Given the description of an element on the screen output the (x, y) to click on. 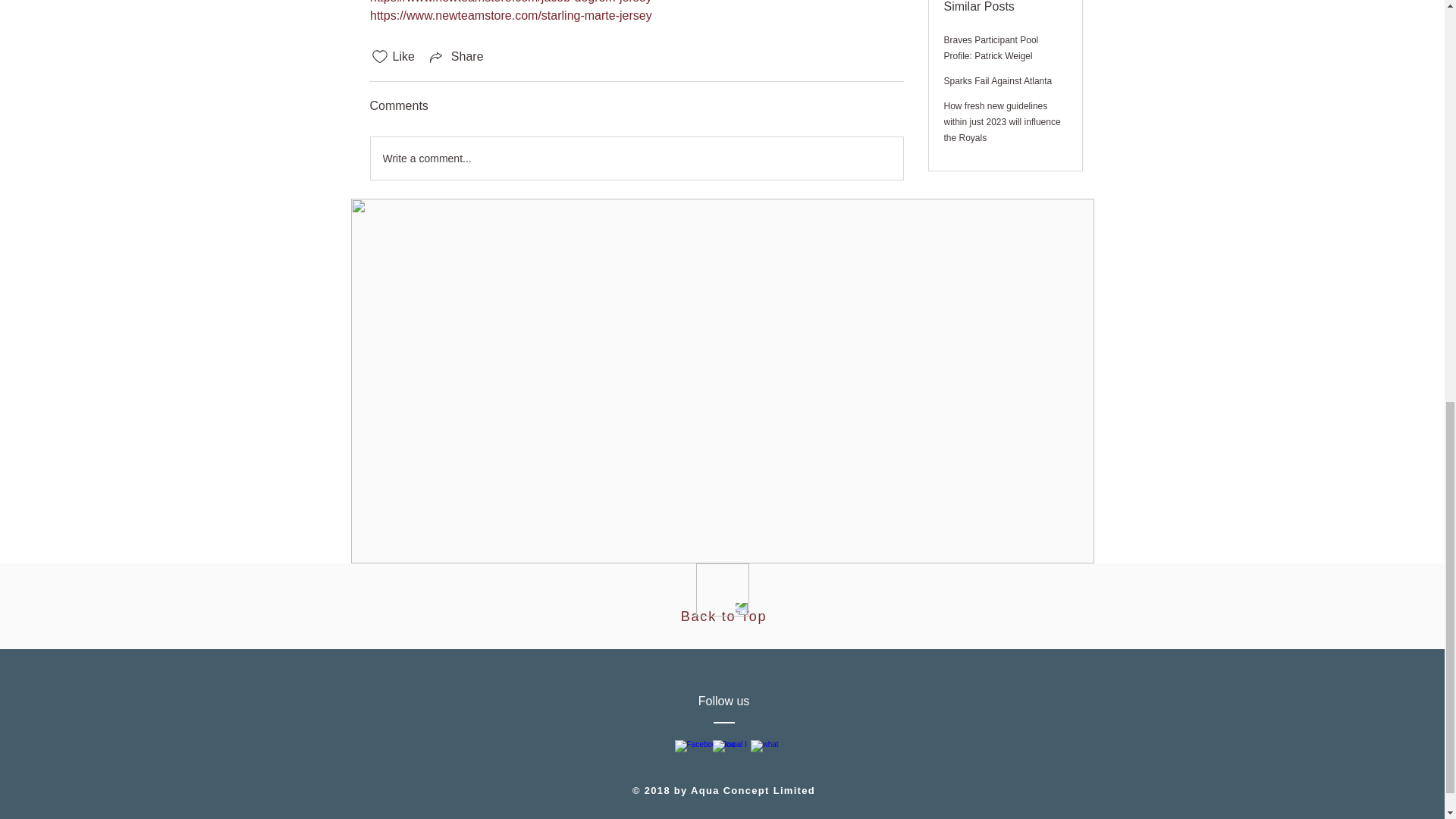
Back to Top (724, 616)
Share (454, 56)
Write a comment... (635, 158)
